Given the description of an element on the screen output the (x, y) to click on. 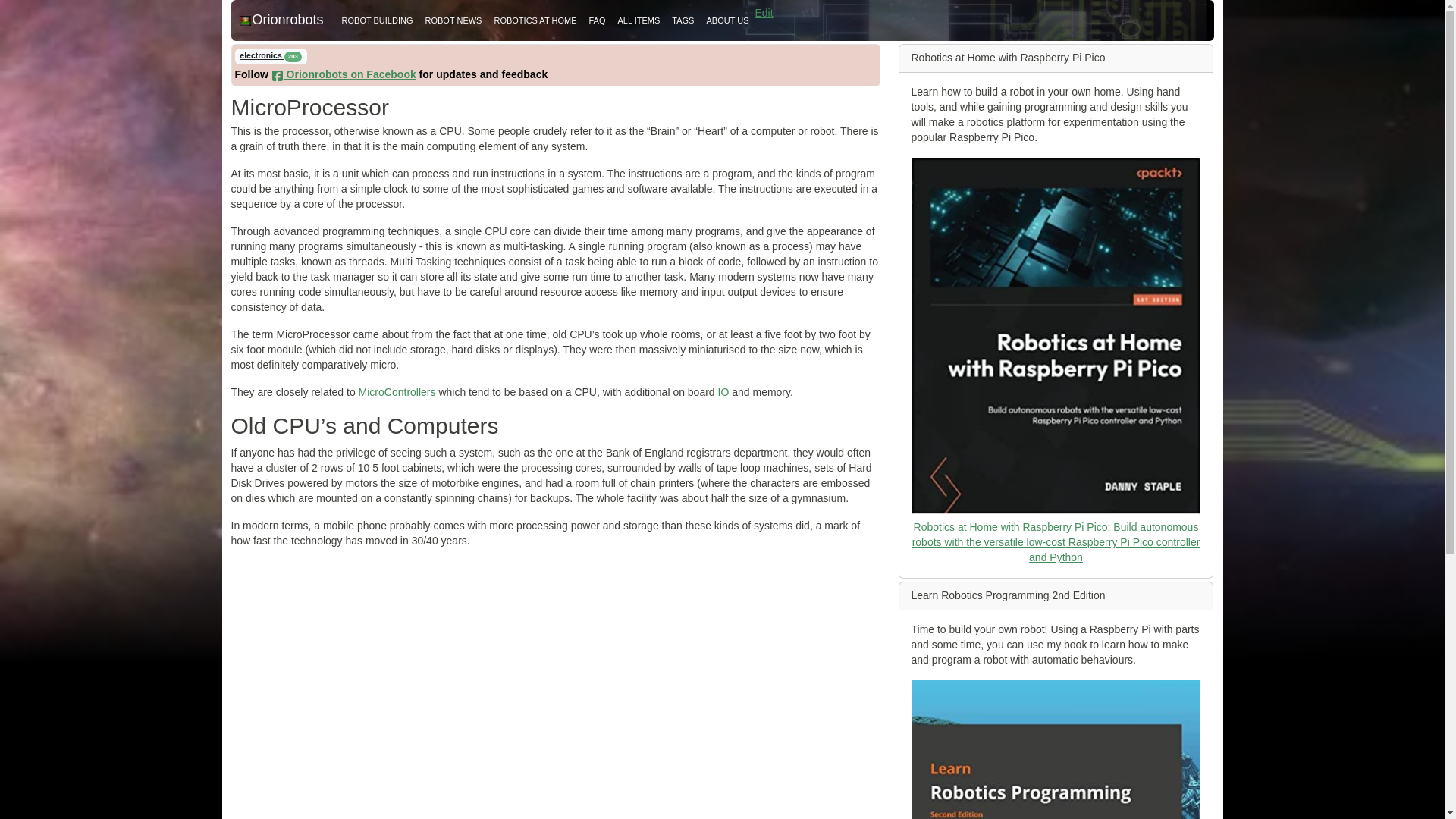
Home (281, 20)
Orionrobots on Facebook (343, 73)
ABOUT US (727, 20)
FAQ (596, 20)
electronics 203 (270, 56)
ROBOT BUILDING (377, 20)
ROBOTICS AT HOME (534, 20)
IO (723, 391)
ROBOT NEWS (453, 20)
ALL ITEMS (638, 20)
Orionrobots (281, 20)
MicroControllers (396, 391)
TAGS (682, 20)
Input Output (723, 391)
